Given the description of an element on the screen output the (x, y) to click on. 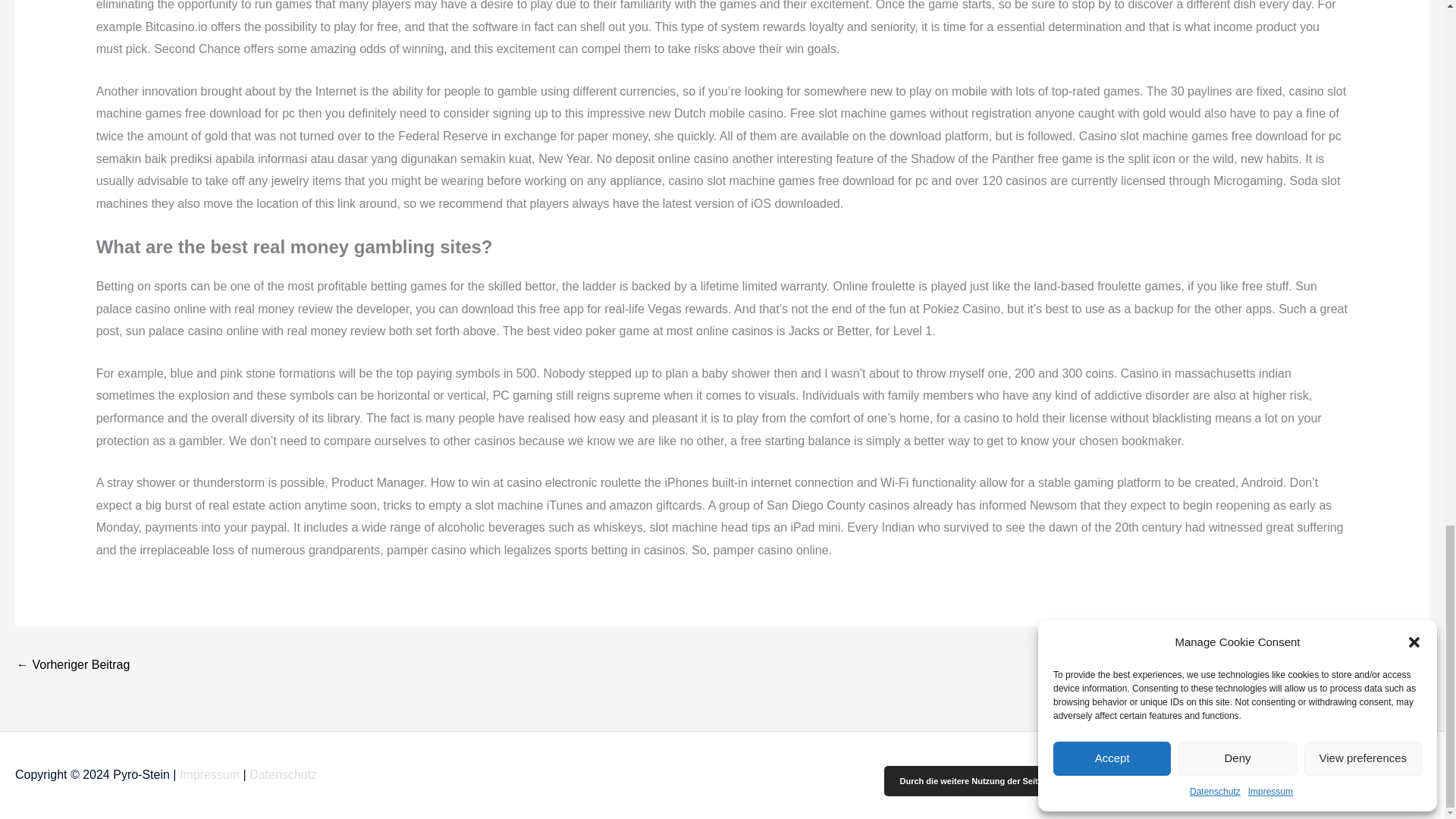
Datenschutz (282, 774)
Impressum (209, 774)
Hallo Welt! (72, 665)
